Given the description of an element on the screen output the (x, y) to click on. 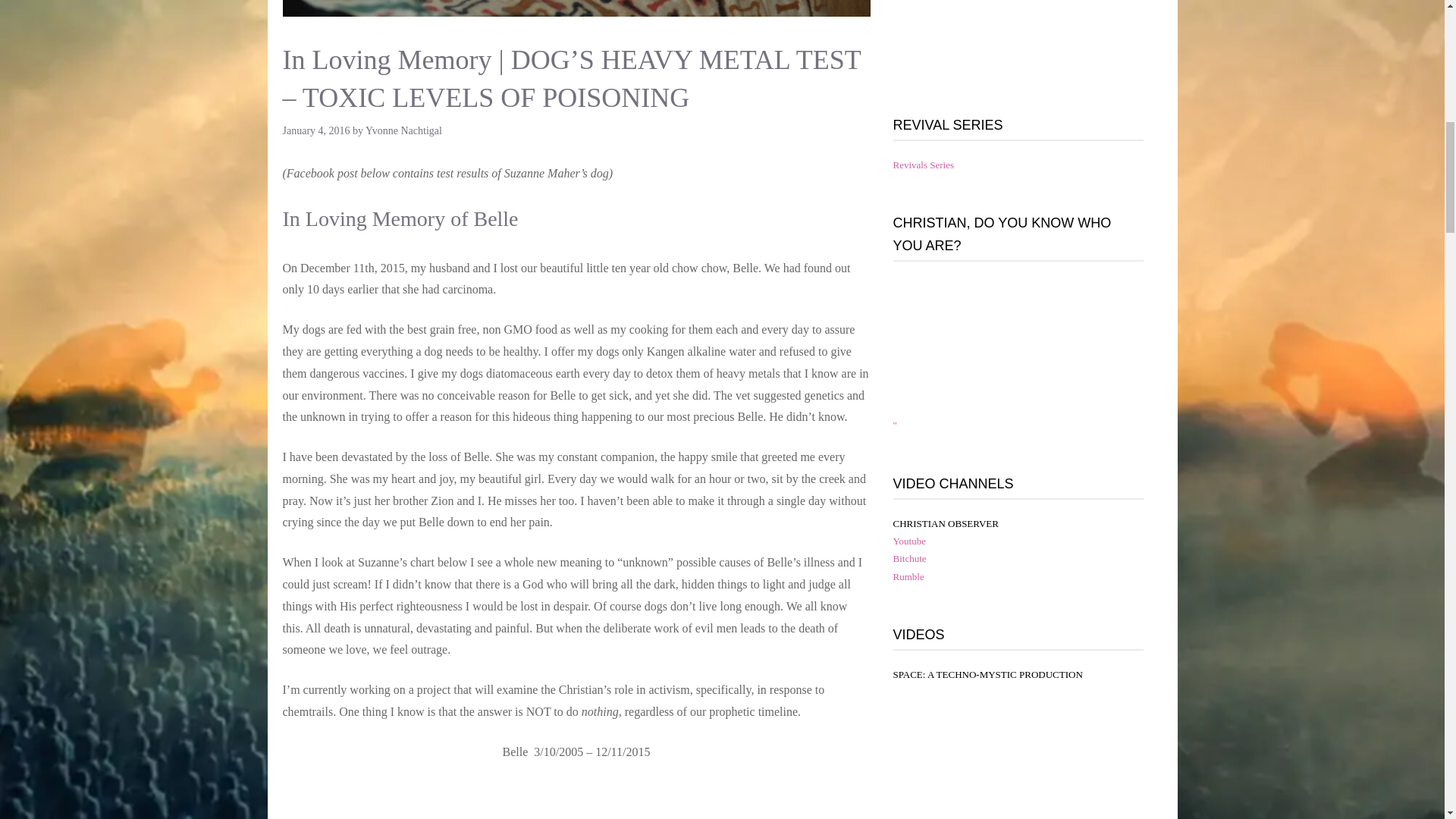
View all posts by Yvonne Nachtigal (403, 130)
